Given the description of an element on the screen output the (x, y) to click on. 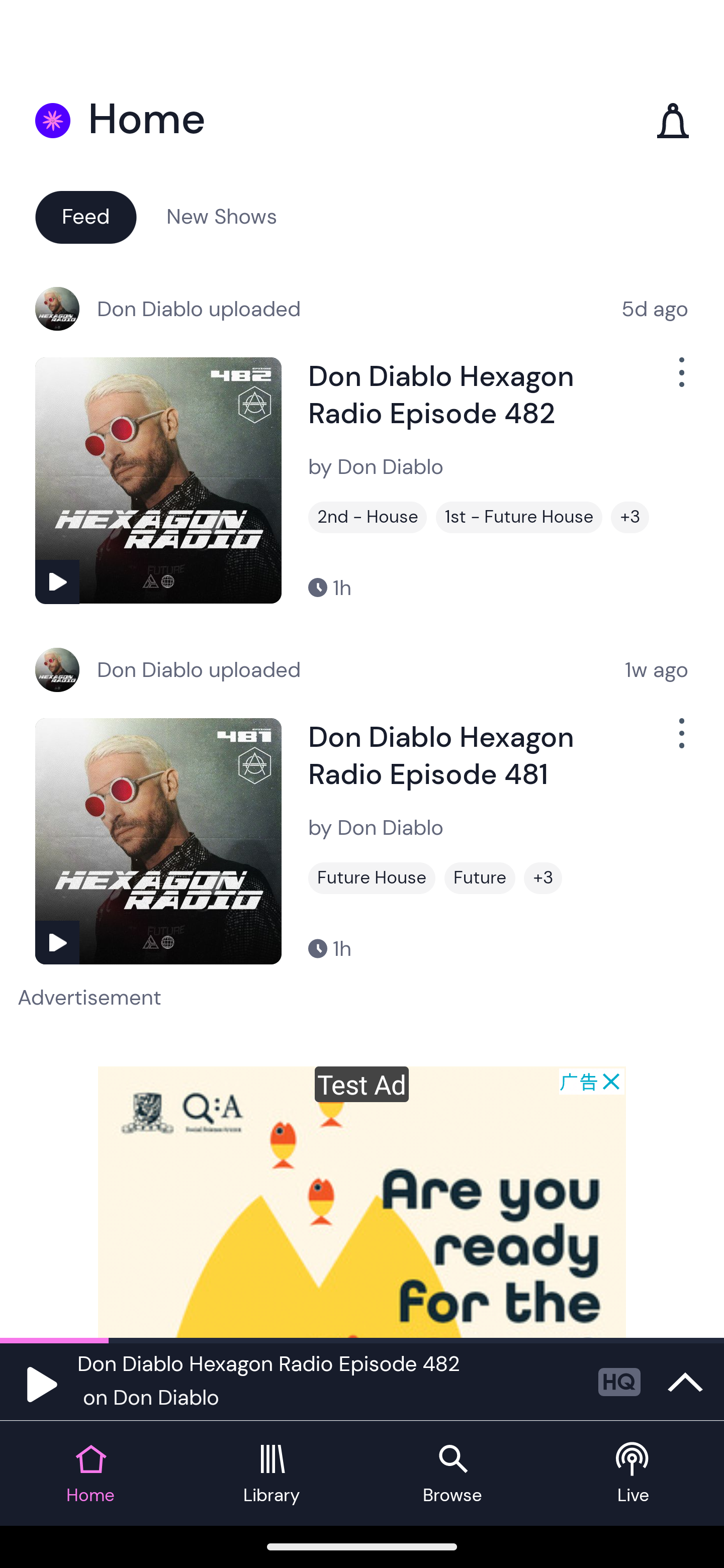
Feed (85, 216)
New Shows (221, 216)
Show Options Menu Button (679, 379)
2nd - House (367, 517)
1st - Future House (518, 517)
Show Options Menu Button (679, 740)
Future House (371, 877)
Future (479, 877)
Advertisement (361, 1201)
Home tab Home (90, 1473)
Library tab Library (271, 1473)
Browse tab Browse (452, 1473)
Live tab Live (633, 1473)
